Given the description of an element on the screen output the (x, y) to click on. 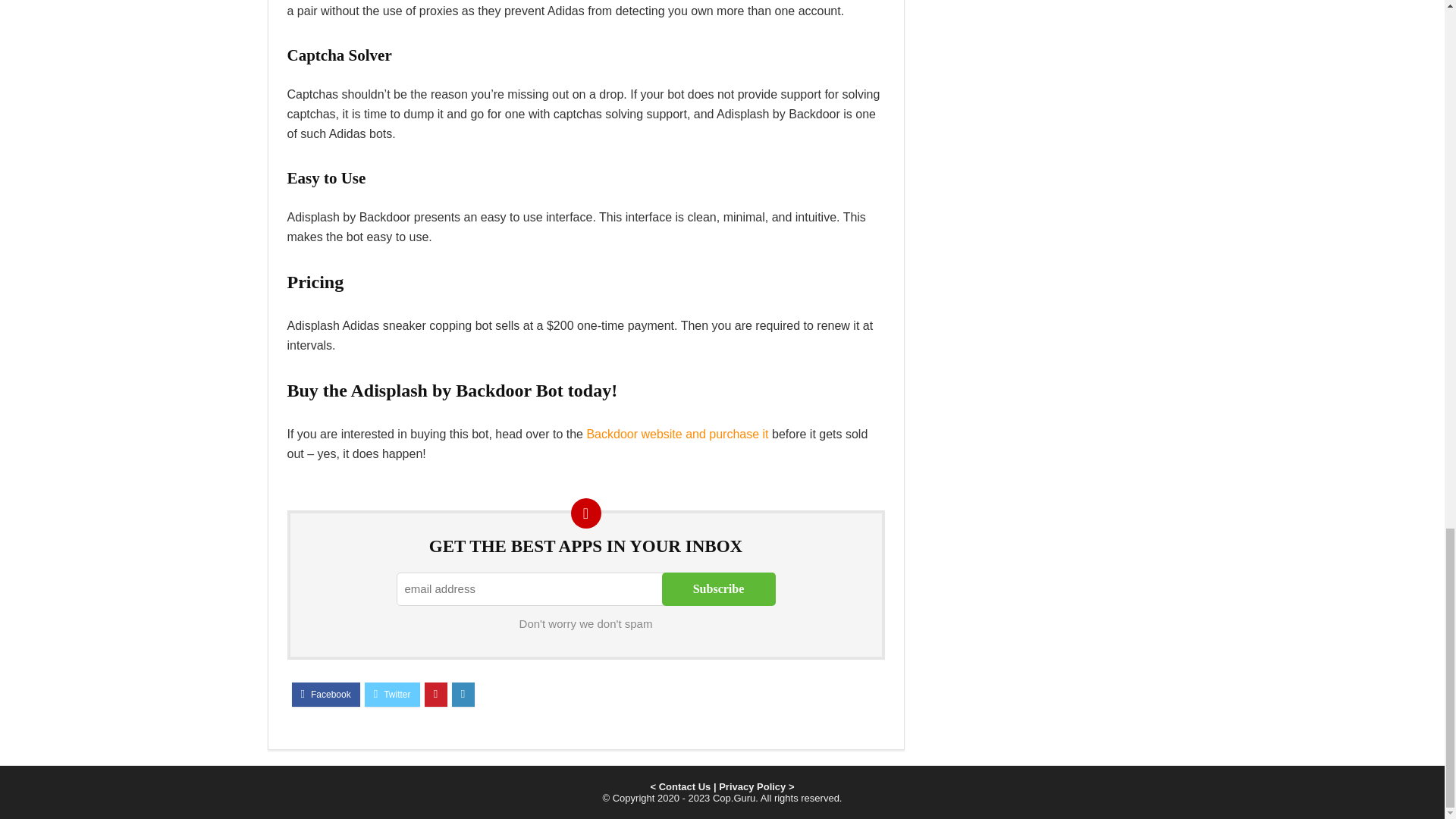
Subscribe (717, 589)
